Given the description of an element on the screen output the (x, y) to click on. 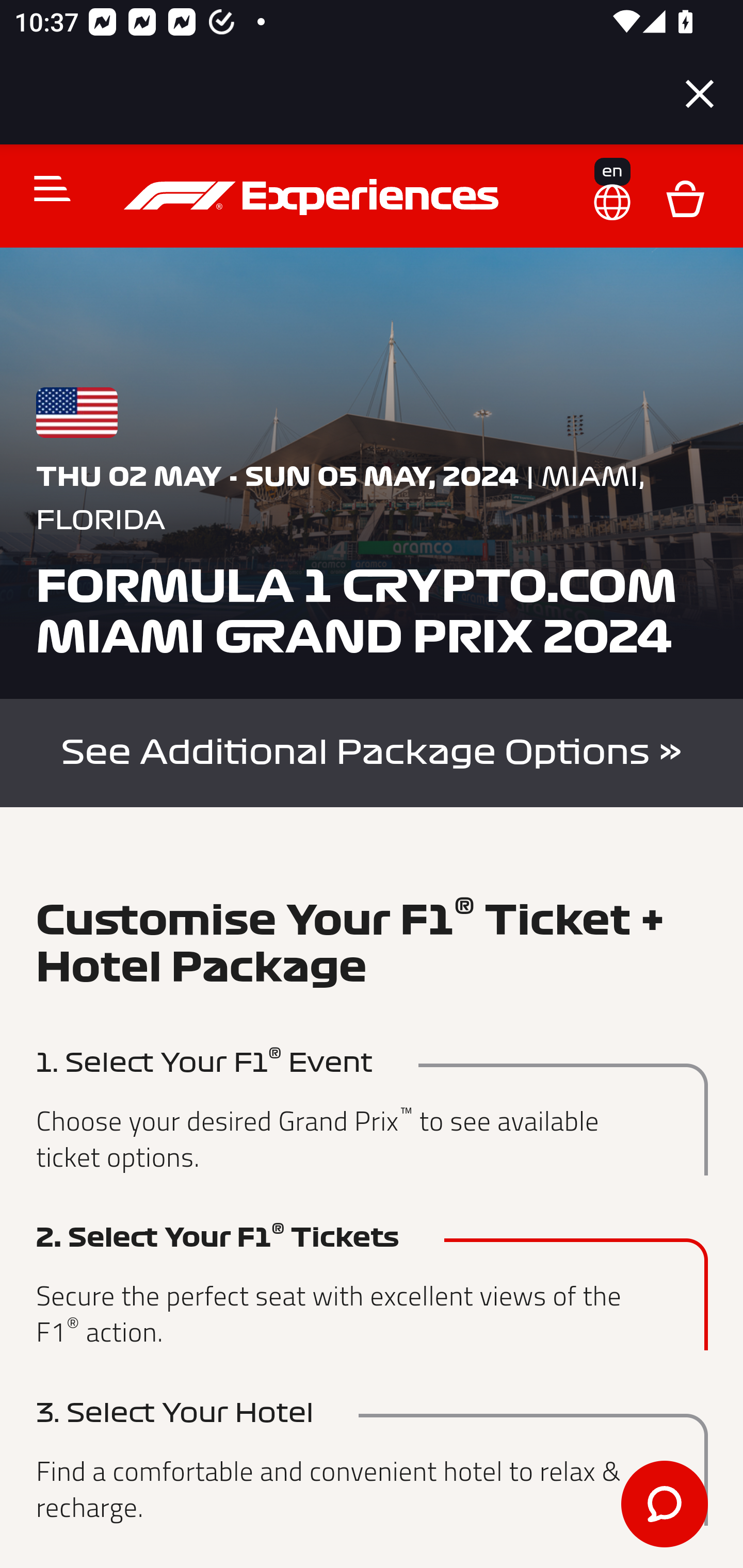
Close (699, 93)
Toggle navigation C (43, 188)
D (684, 197)
f1experiences (313, 197)
See Additional Package Options » (371, 752)
